Given the description of an element on the screen output the (x, y) to click on. 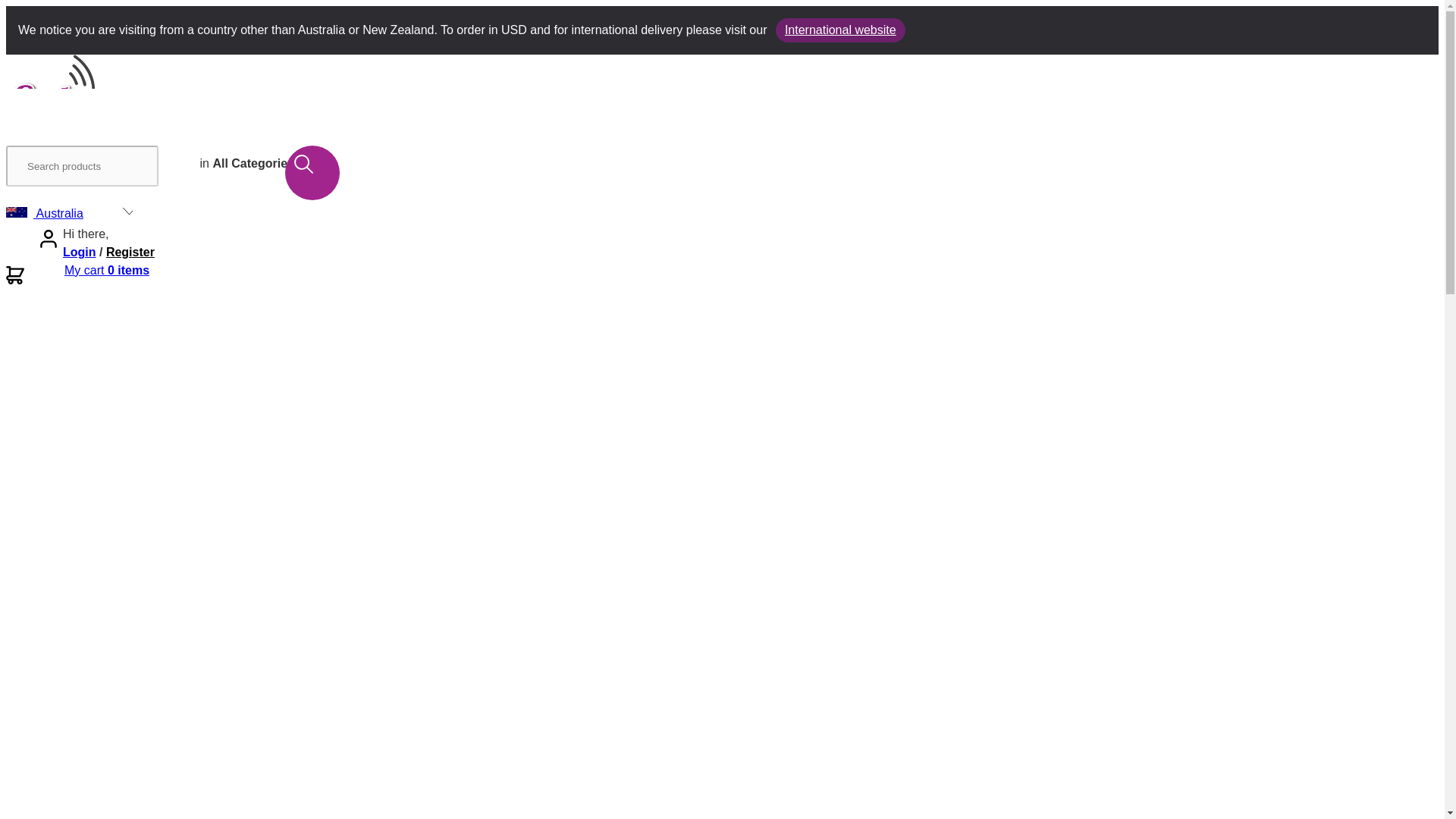
Login (79, 252)
Australia (69, 213)
Login (79, 252)
Register (130, 252)
New Zealand (69, 231)
My cart 0 items (106, 269)
Register an account to speed up the checkout process (130, 252)
International website (840, 30)
